Given the description of an element on the screen output the (x, y) to click on. 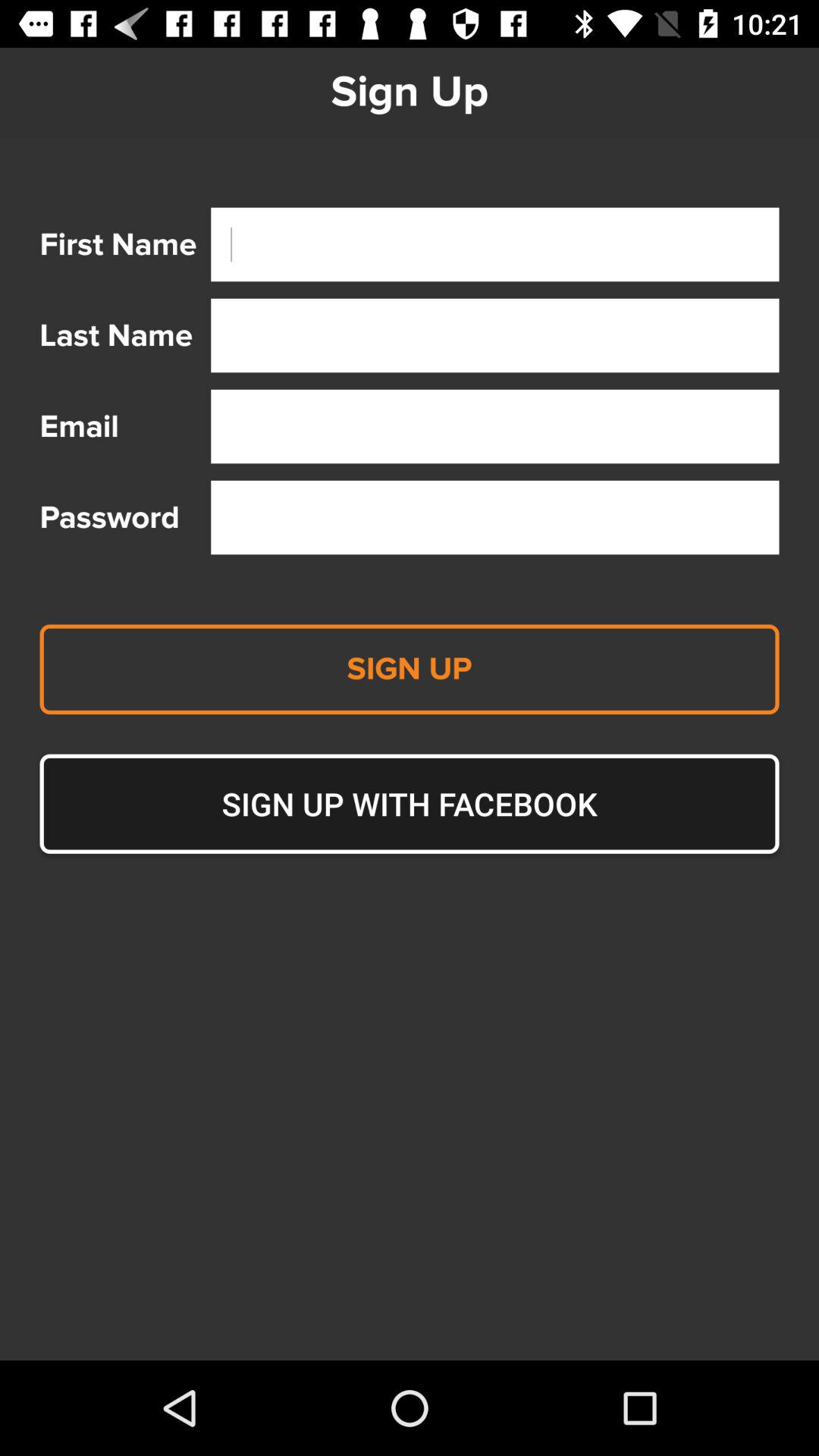
where to put last name (495, 335)
